Given the description of an element on the screen output the (x, y) to click on. 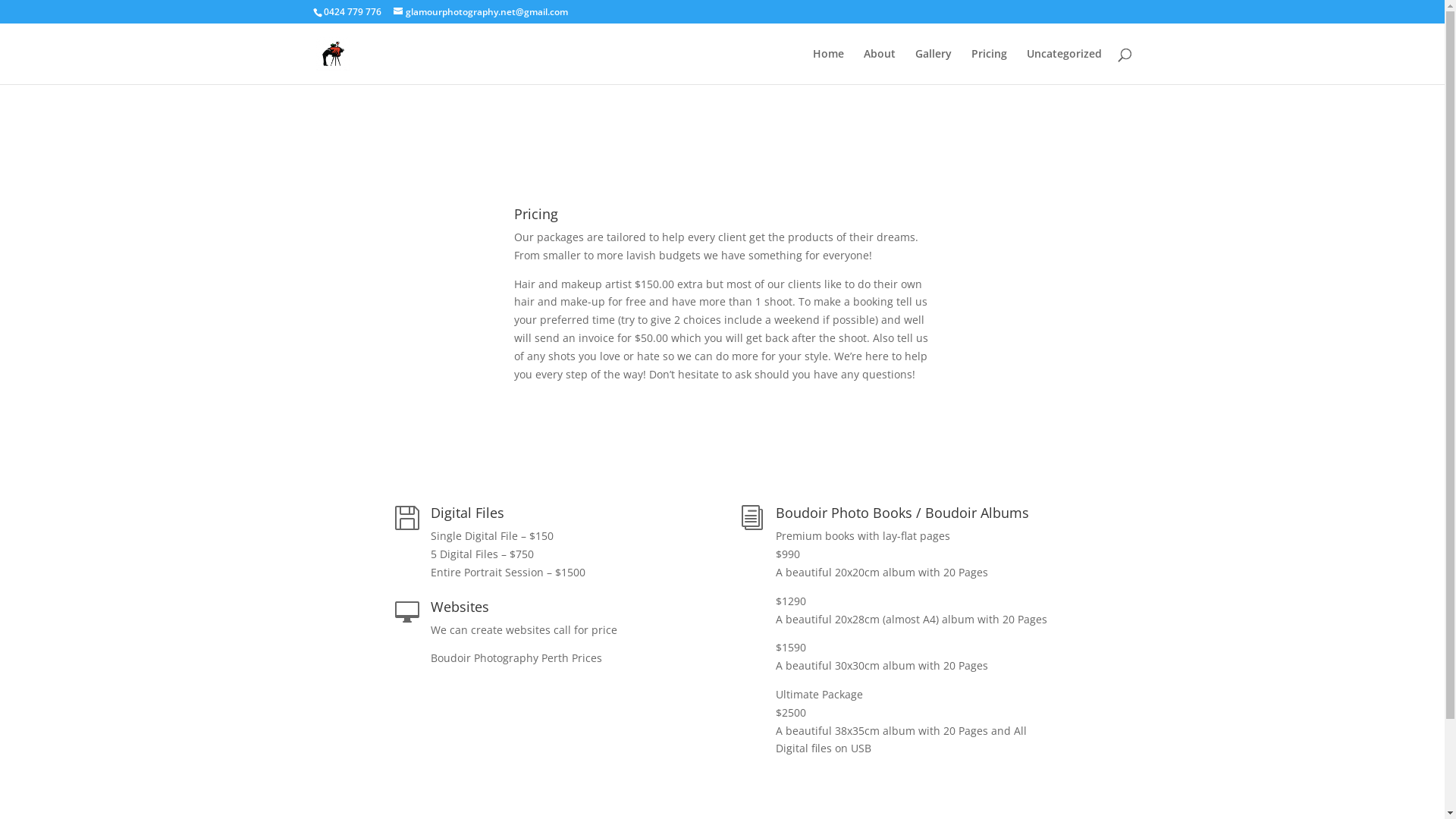
Pricing Element type: text (988, 66)
Uncategorized Element type: text (1063, 66)
About Element type: text (878, 66)
Home Element type: text (828, 66)
glamourphotography.net@gmail.com Element type: text (479, 11)
Gallery Element type: text (932, 66)
